Given the description of an element on the screen output the (x, y) to click on. 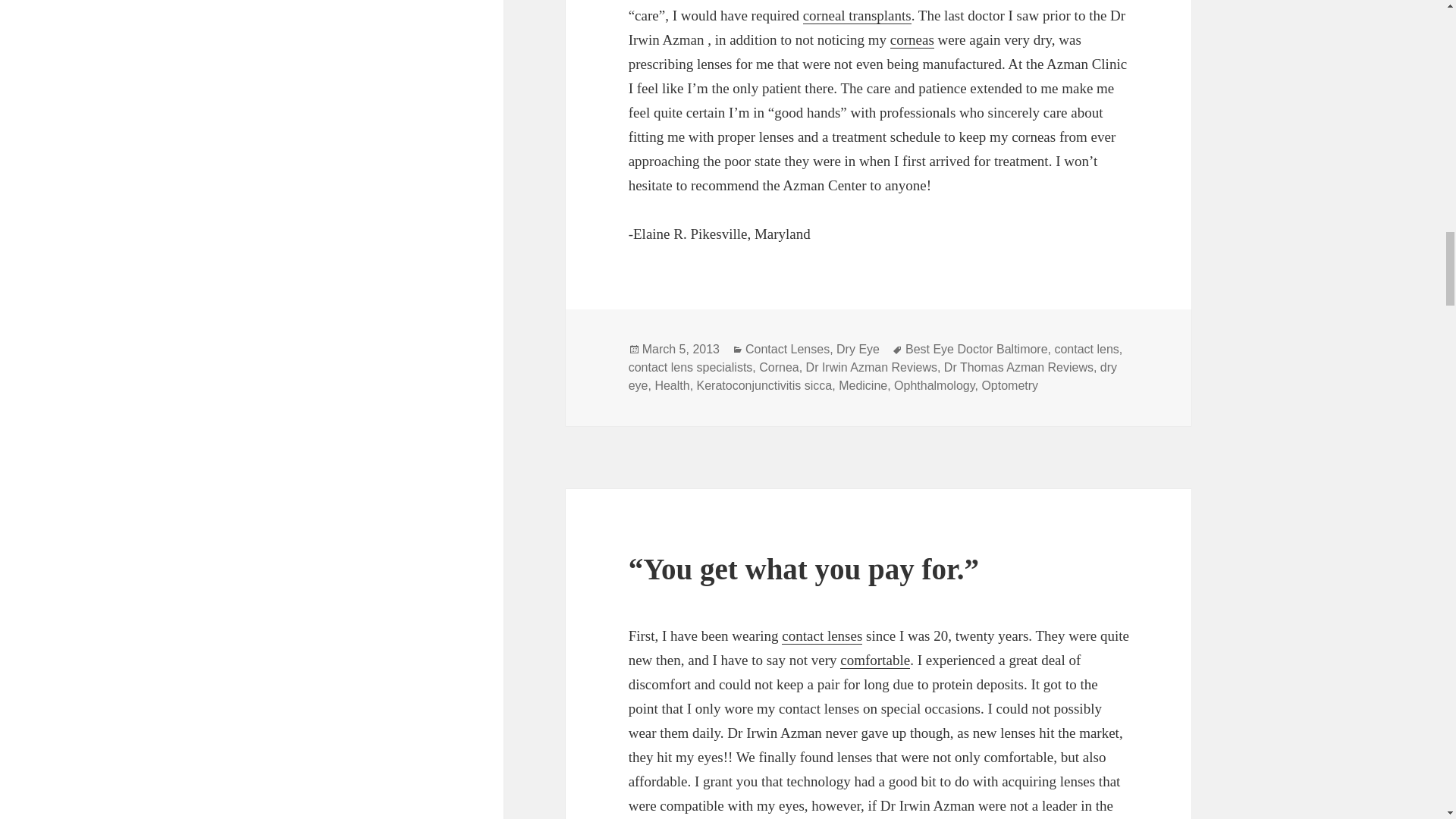
Comfort (875, 660)
Corneal transplantation (857, 15)
Contact lens (821, 636)
Cornea (911, 39)
